Given the description of an element on the screen output the (x, y) to click on. 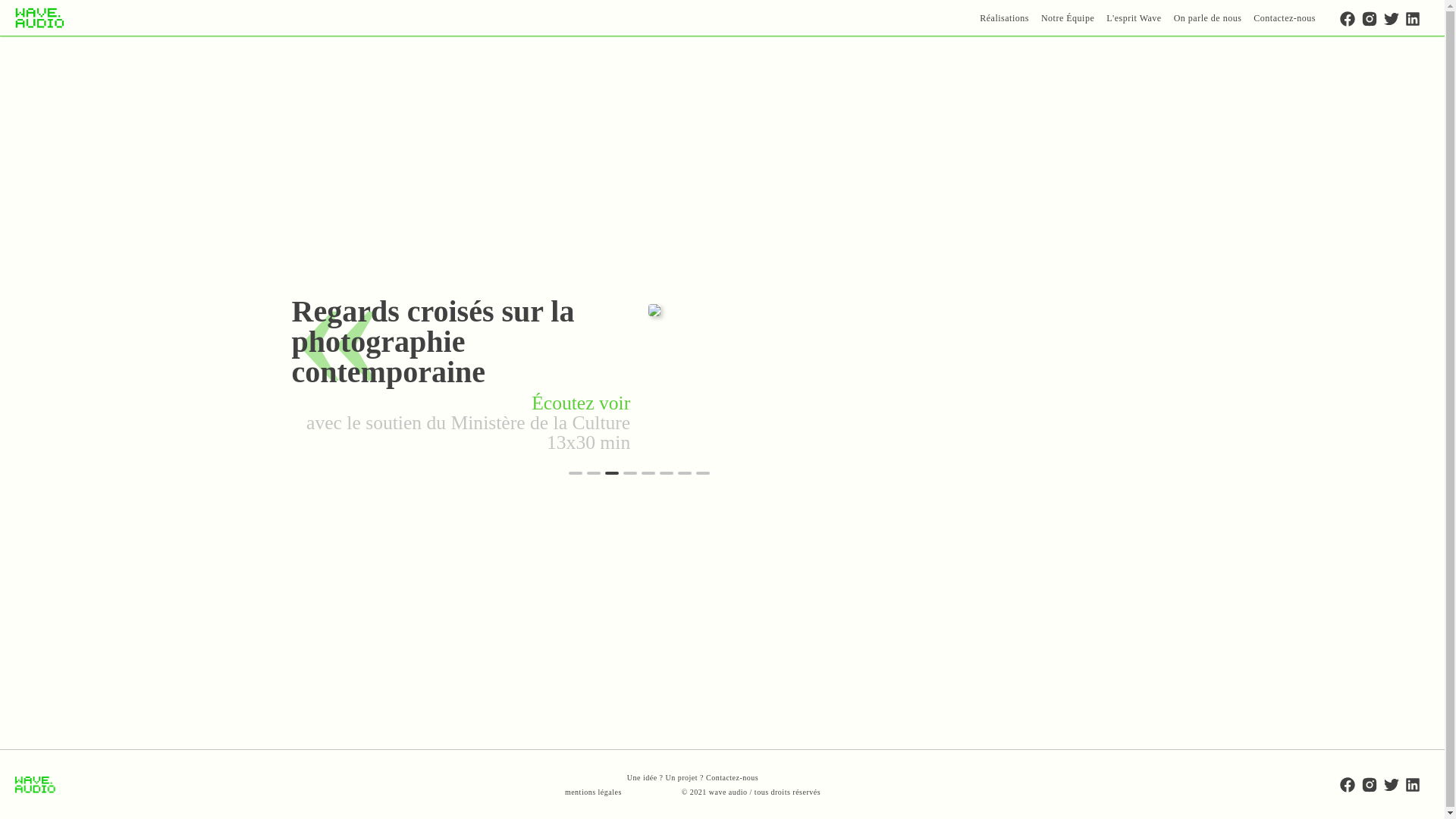
Contactez-nous Element type: text (1284, 17)
On parle de nous Element type: text (1207, 17)
L'esprit Wave Element type: text (1133, 17)
